Given the description of an element on the screen output the (x, y) to click on. 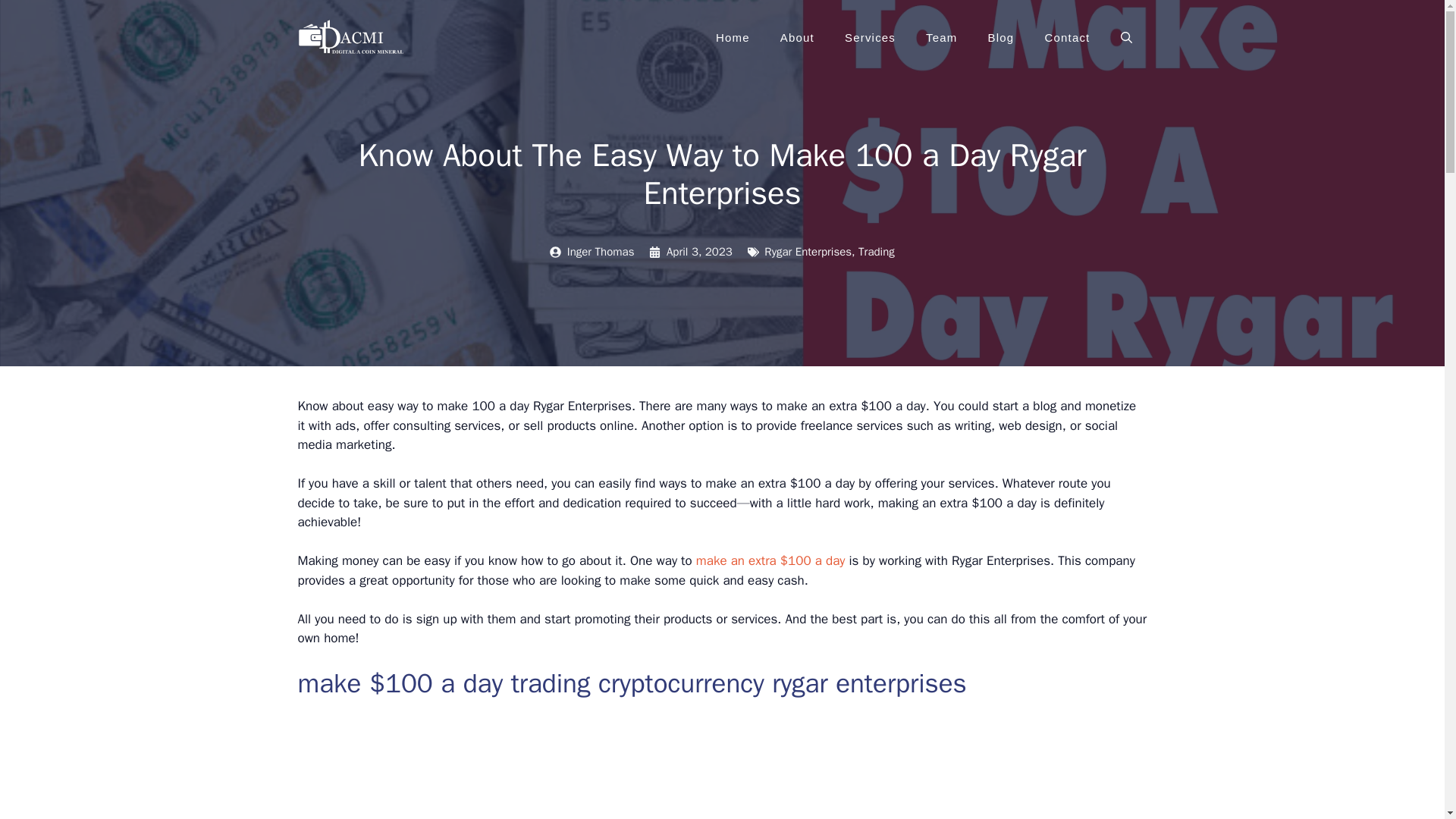
Rygar Enterprises (807, 251)
About (797, 37)
Services (870, 37)
Blog (1000, 37)
Trading (877, 251)
Team (941, 37)
Contact (1067, 37)
Home (732, 37)
